Given the description of an element on the screen output the (x, y) to click on. 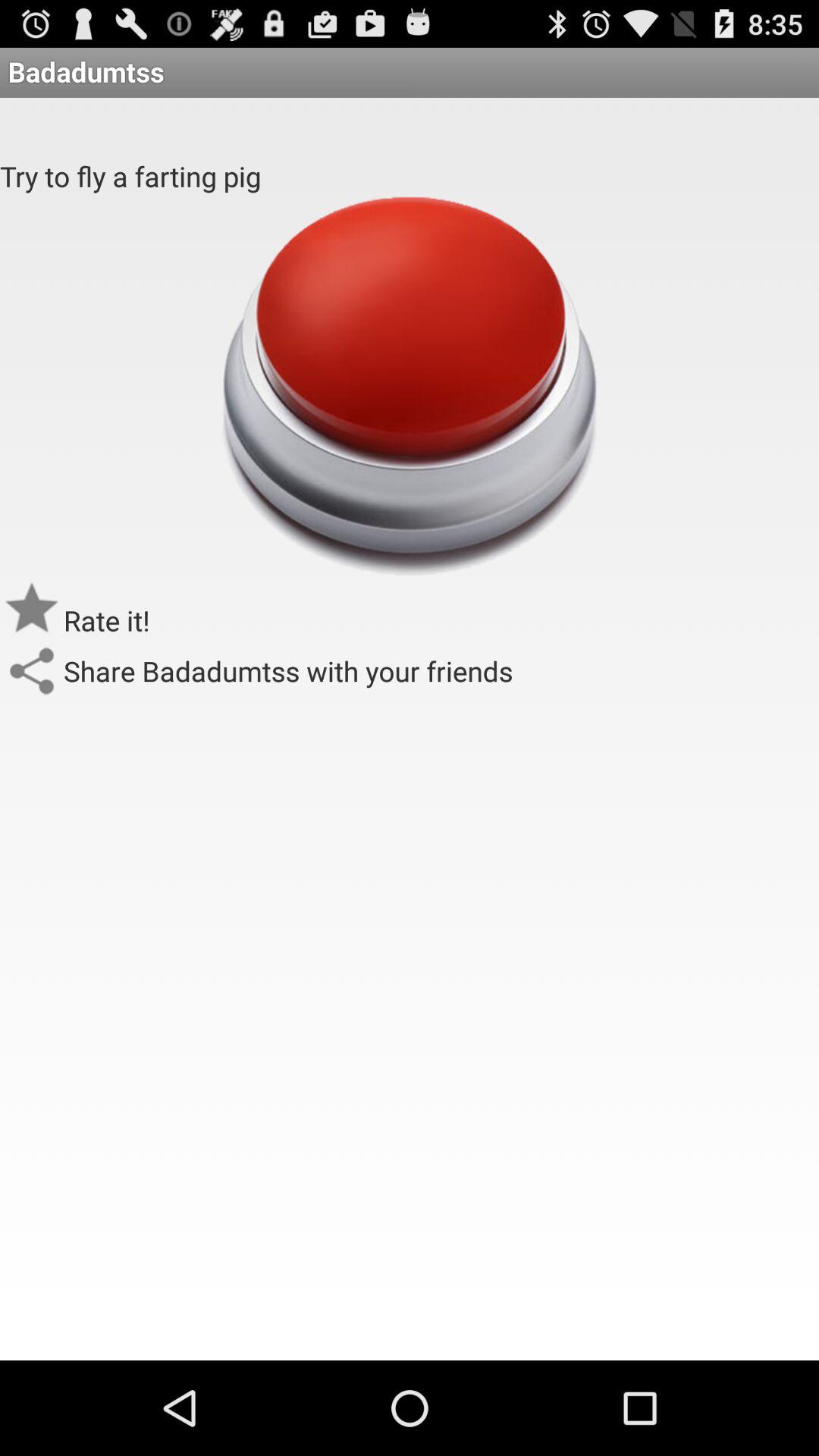
launch the app above the share badadumtss with icon (408, 385)
